Given the description of an element on the screen output the (x, y) to click on. 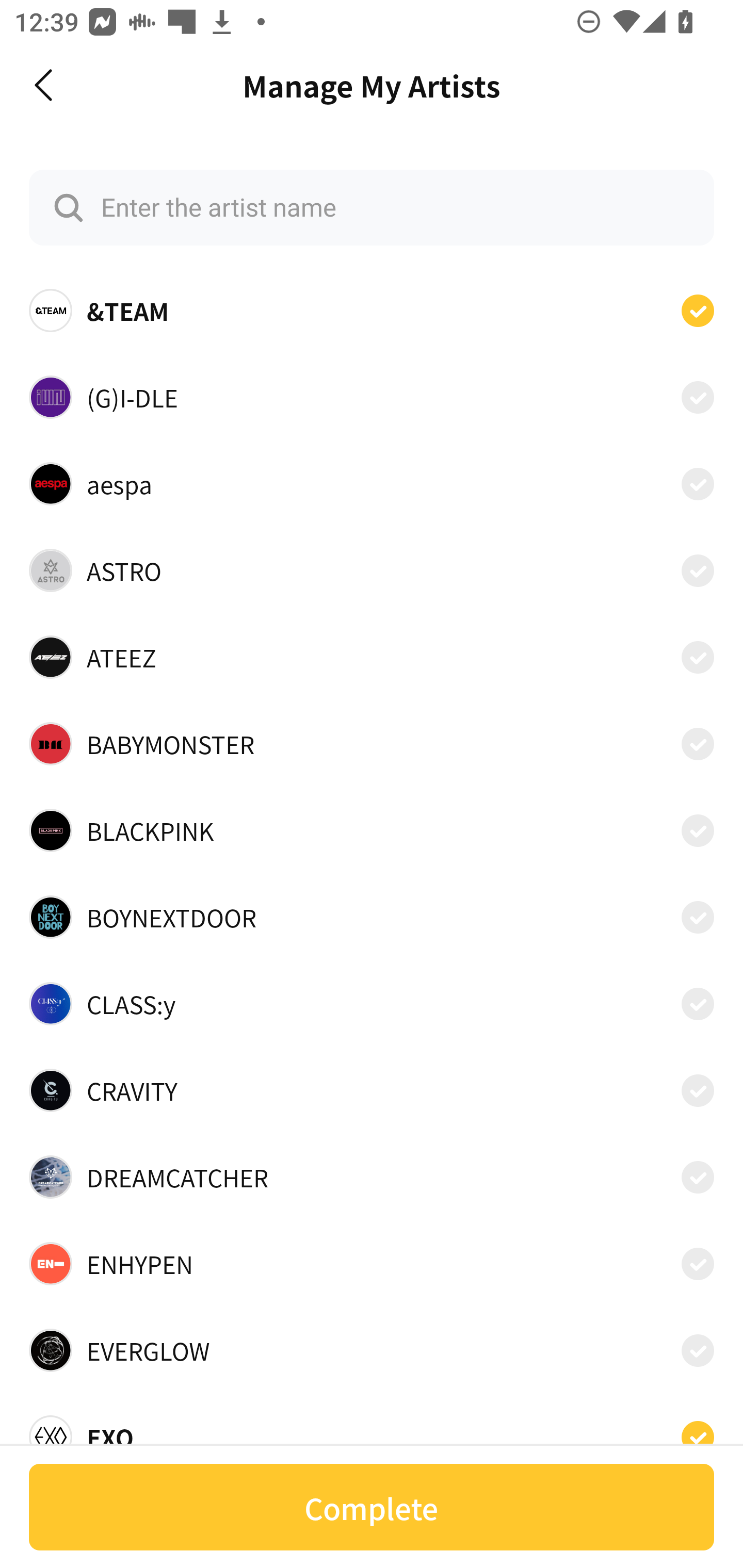
Enter the artist name (371, 207)
&TEAM (371, 310)
(G)I-DLE (371, 396)
aespa (371, 483)
ASTRO (371, 570)
ATEEZ (371, 656)
BABYMONSTER (371, 743)
BLACKPINK (371, 830)
BOYNEXTDOOR (371, 917)
CLASS:y (371, 1003)
CRAVITY (371, 1090)
DREAMCATCHER (371, 1176)
ENHYPEN (371, 1263)
EVERGLOW (371, 1350)
EXO (371, 1430)
Complete (371, 1507)
